Given the description of an element on the screen output the (x, y) to click on. 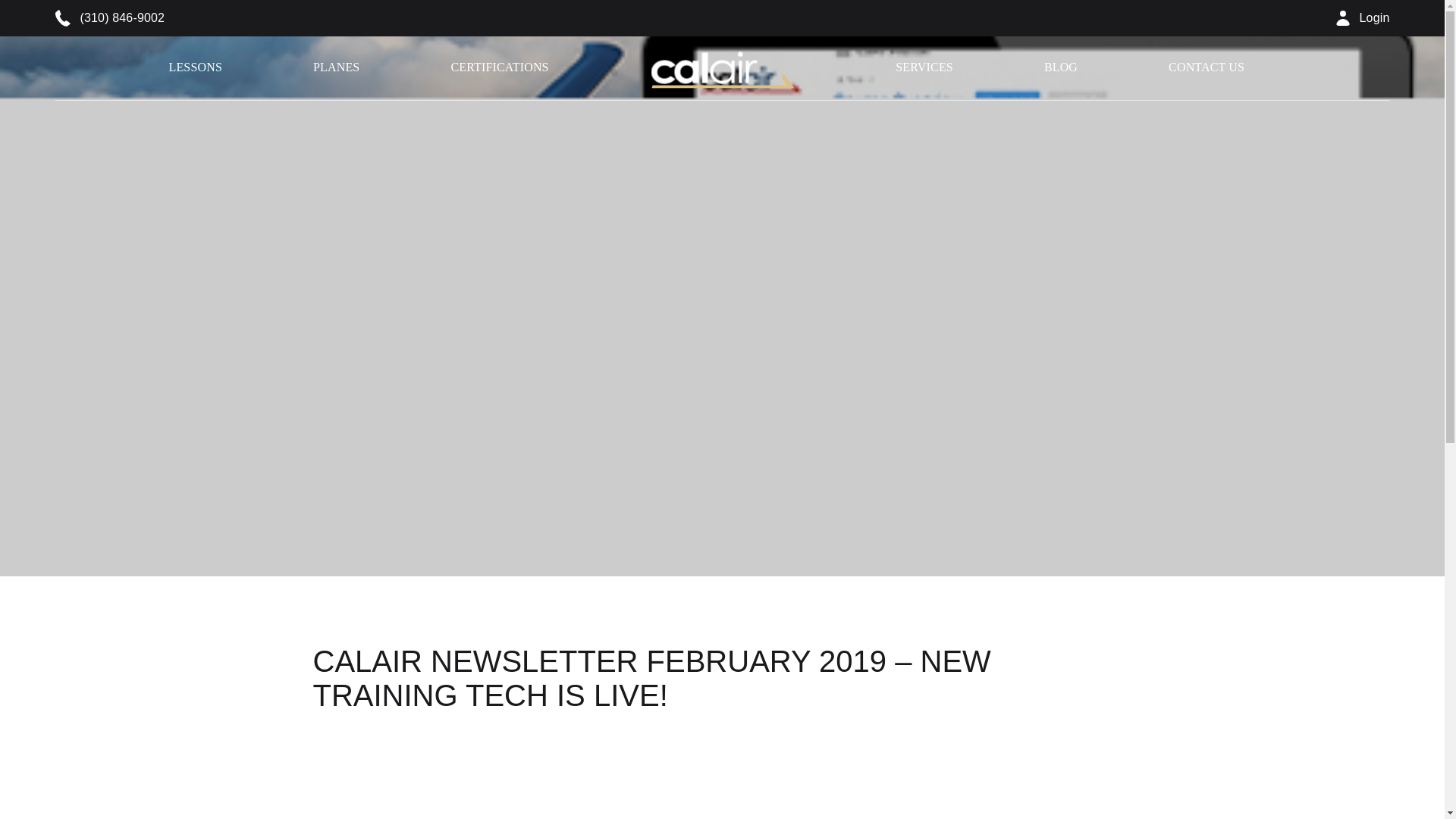
BLOG (1060, 66)
CERTIFICATIONS (498, 66)
Login (1363, 17)
CONTACT US (1206, 66)
PLANES (336, 66)
SERVICES (924, 66)
LESSONS (194, 66)
